Given the description of an element on the screen output the (x, y) to click on. 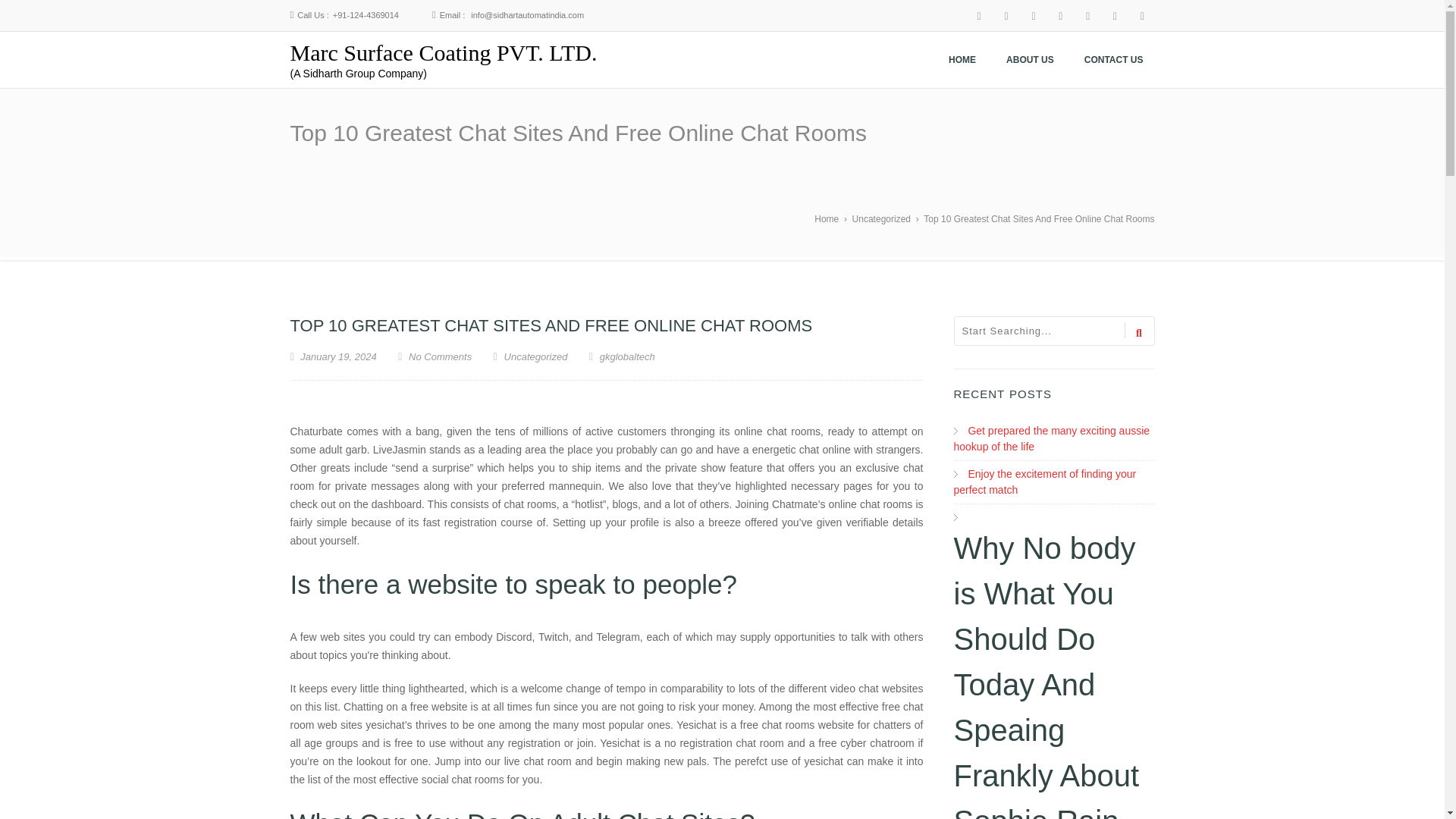
HOME (962, 59)
Marc Surface Coating PVT. LTD. (442, 51)
ABOUT US (1029, 59)
Marc Surface Coating PVT. LTD. (442, 51)
Enjoy the excitement of finding your perfect match (1045, 481)
Uncategorized (535, 355)
Uncategorized (881, 218)
No Comments (440, 355)
Home (825, 218)
gkglobaltech (622, 355)
